Given the description of an element on the screen output the (x, y) to click on. 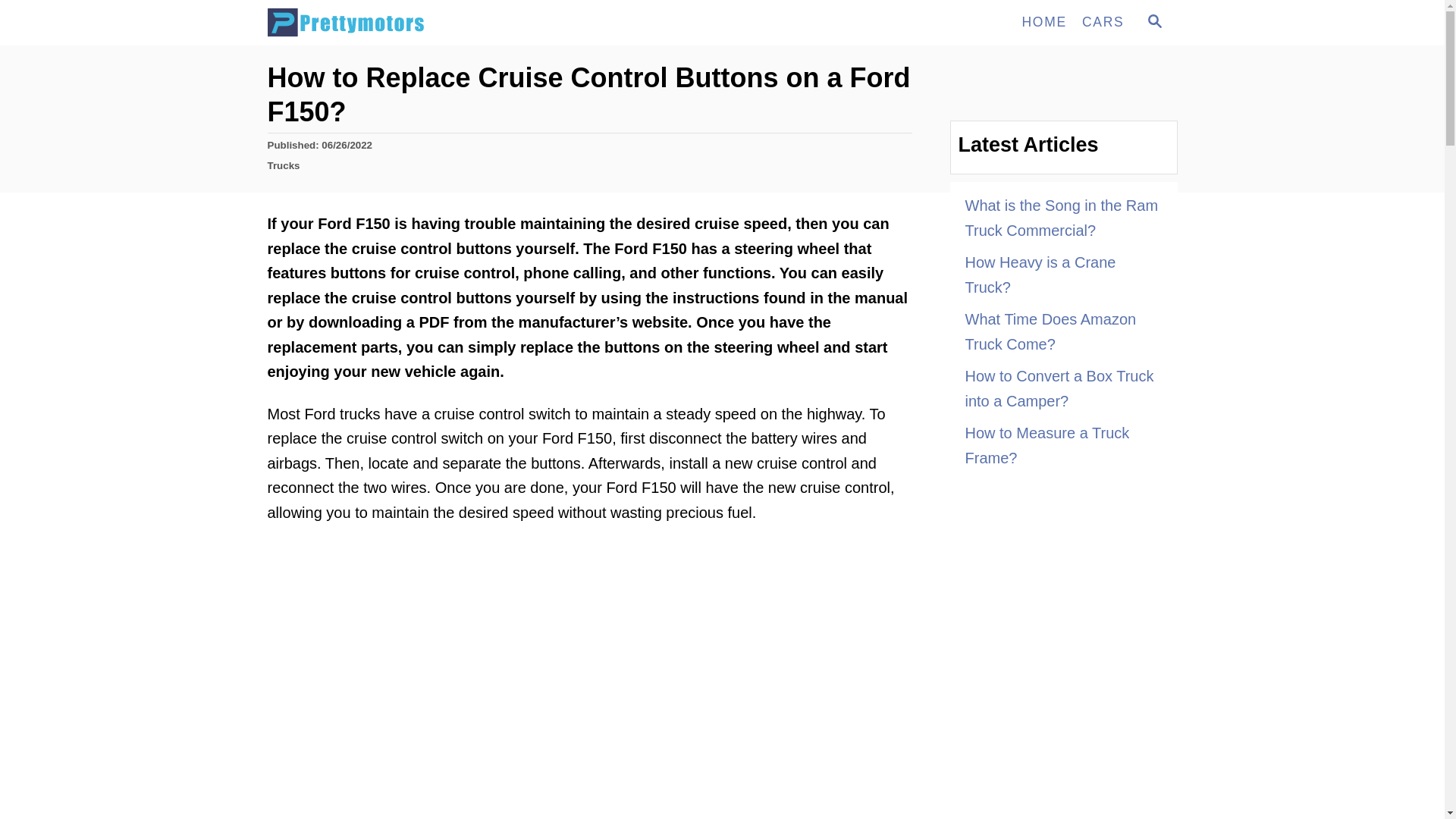
How to Convert a Box Truck into a Camper? (1062, 388)
What is the Song in the Ram Truck Commercial? (1153, 22)
CARS (1062, 217)
MAGNIFYING GLASS (1103, 22)
What Time Does Amazon Truck Come? (1153, 21)
HOME (1062, 331)
How Heavy is a Crane Truck? (1043, 22)
How to Measure a Truck Frame? (1062, 274)
Trucks (1062, 445)
Prettymotors (282, 165)
